Given the description of an element on the screen output the (x, y) to click on. 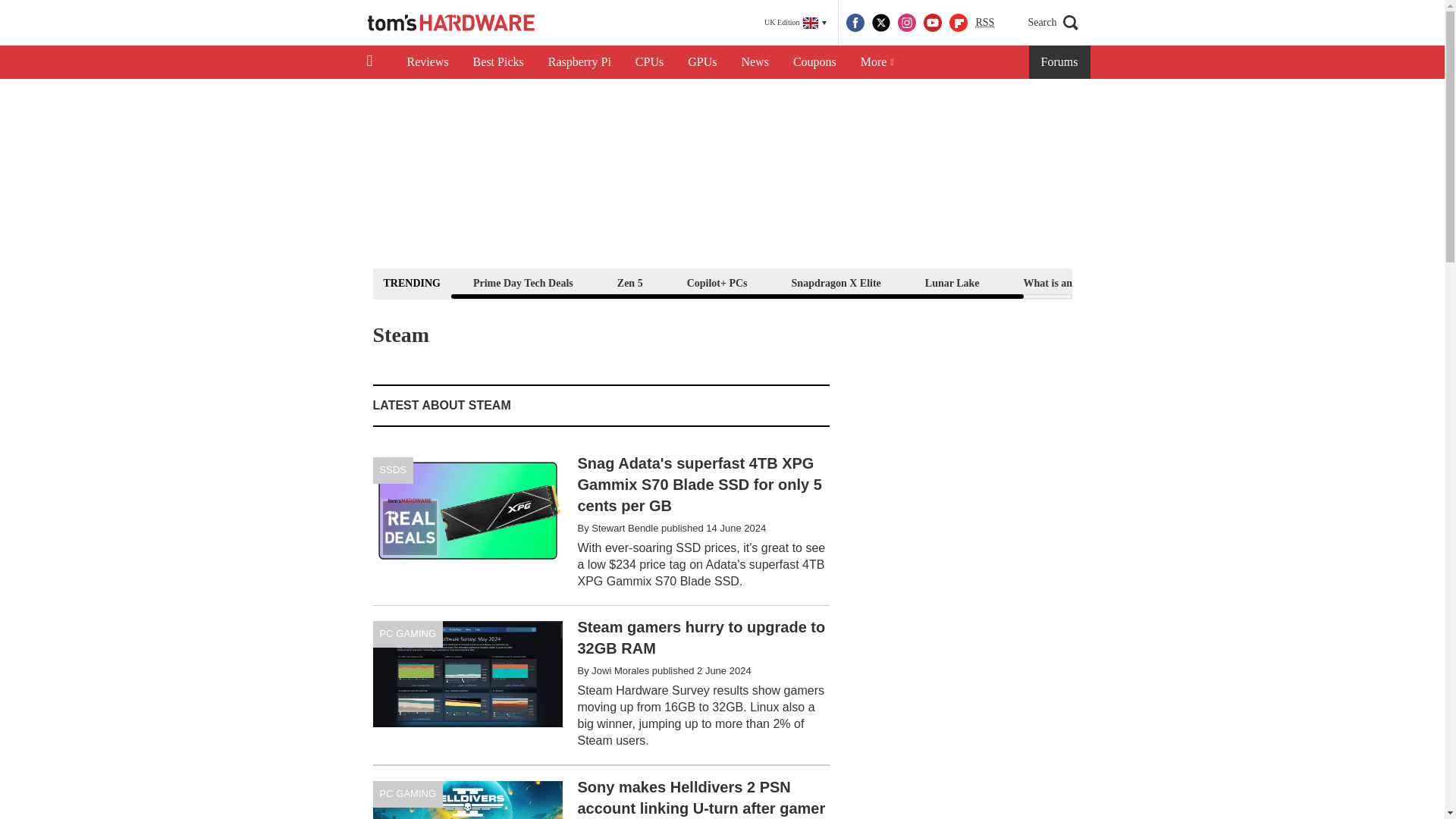
GPUs (702, 61)
Really Simple Syndication (984, 21)
Prime Day Tech Deals (522, 282)
Forums (1059, 61)
UK Edition (795, 22)
Raspberry Pi (579, 61)
CPUs (649, 61)
Reviews (427, 61)
Coupons (814, 61)
News (754, 61)
RSS (984, 22)
Best Picks (498, 61)
